Given the description of an element on the screen output the (x, y) to click on. 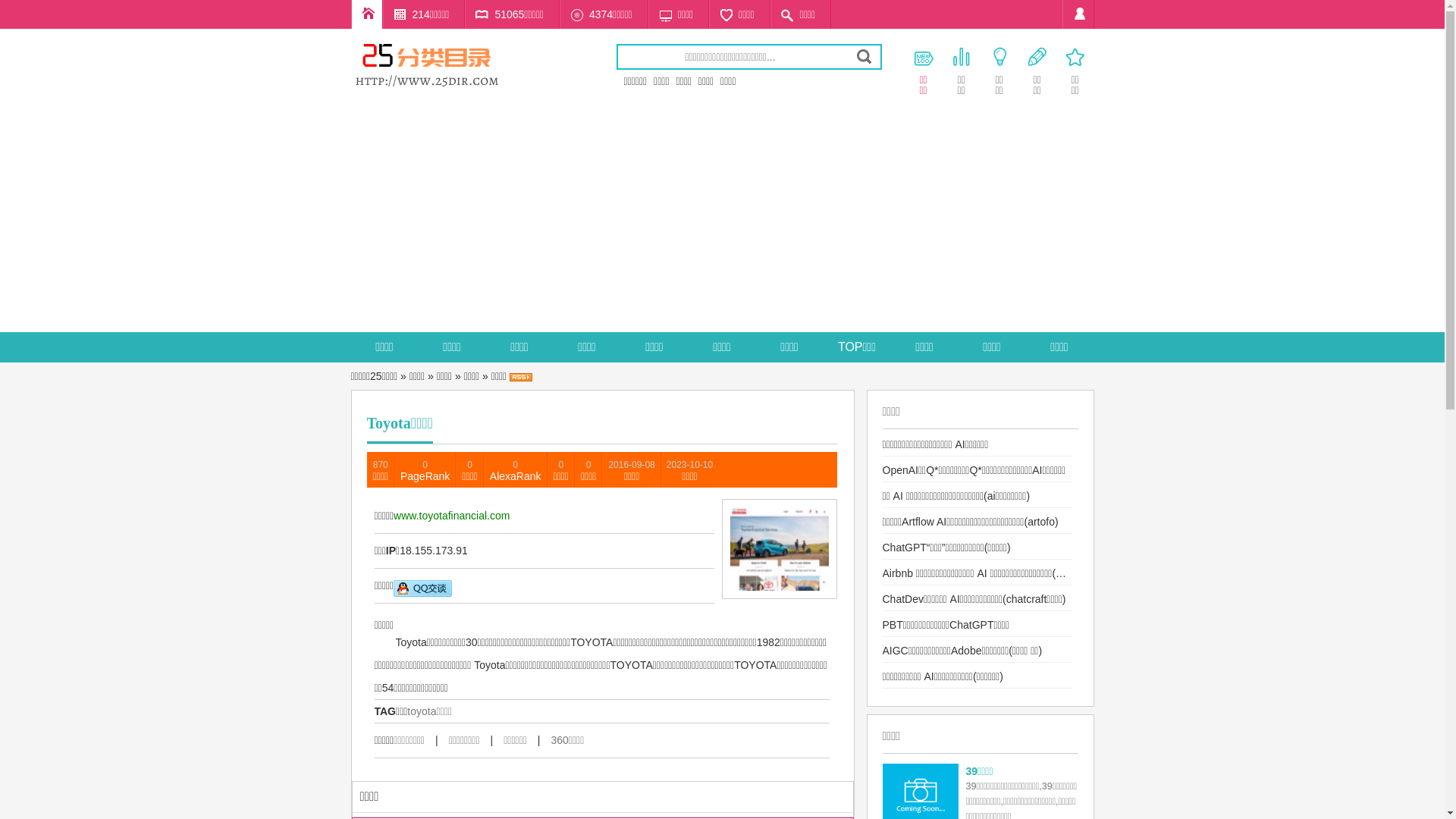
Advertisement Element type: hover (721, 218)
